Given the description of an element on the screen output the (x, y) to click on. 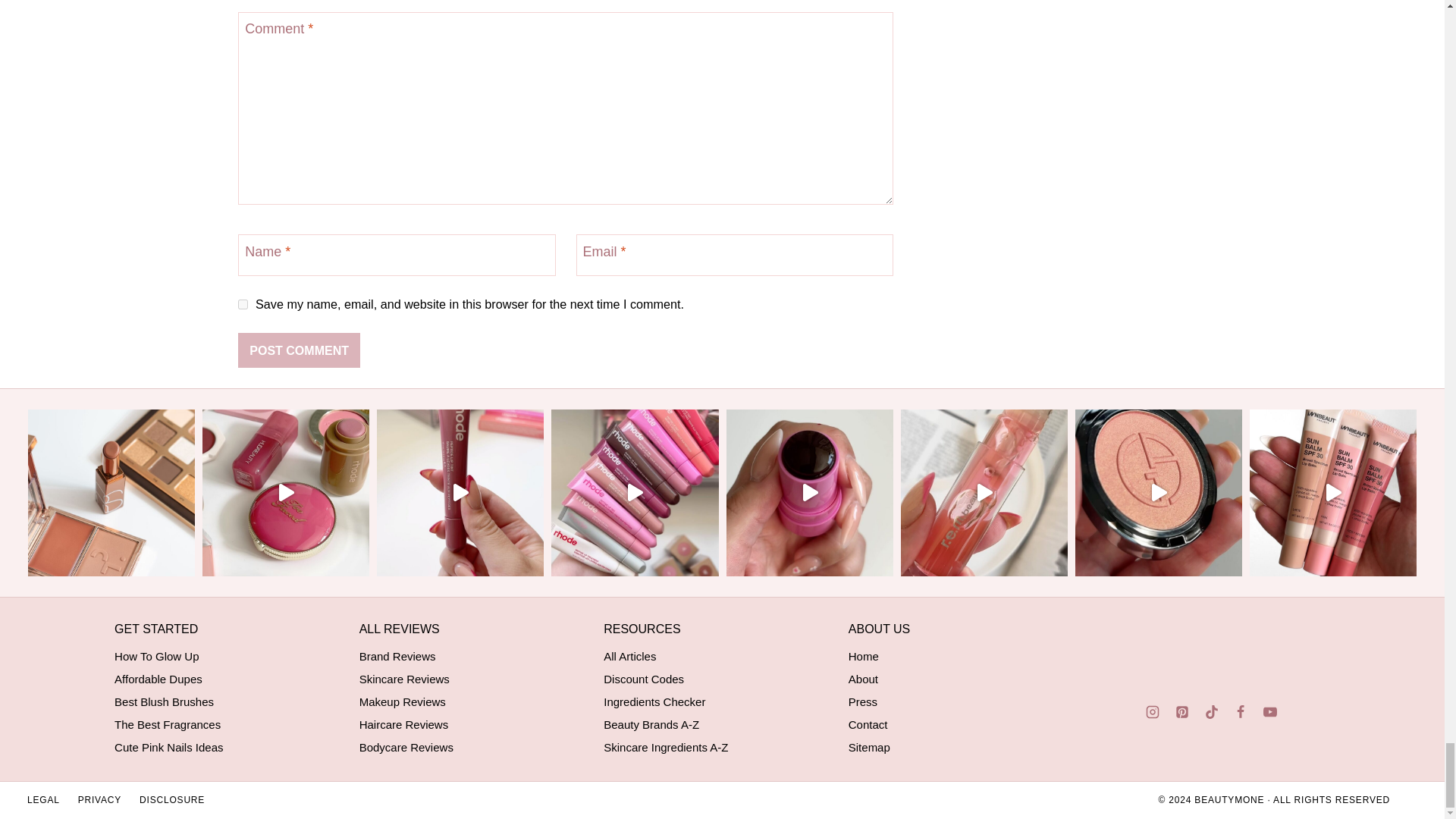
Post Comment (298, 349)
yes (242, 304)
